Given the description of an element on the screen output the (x, y) to click on. 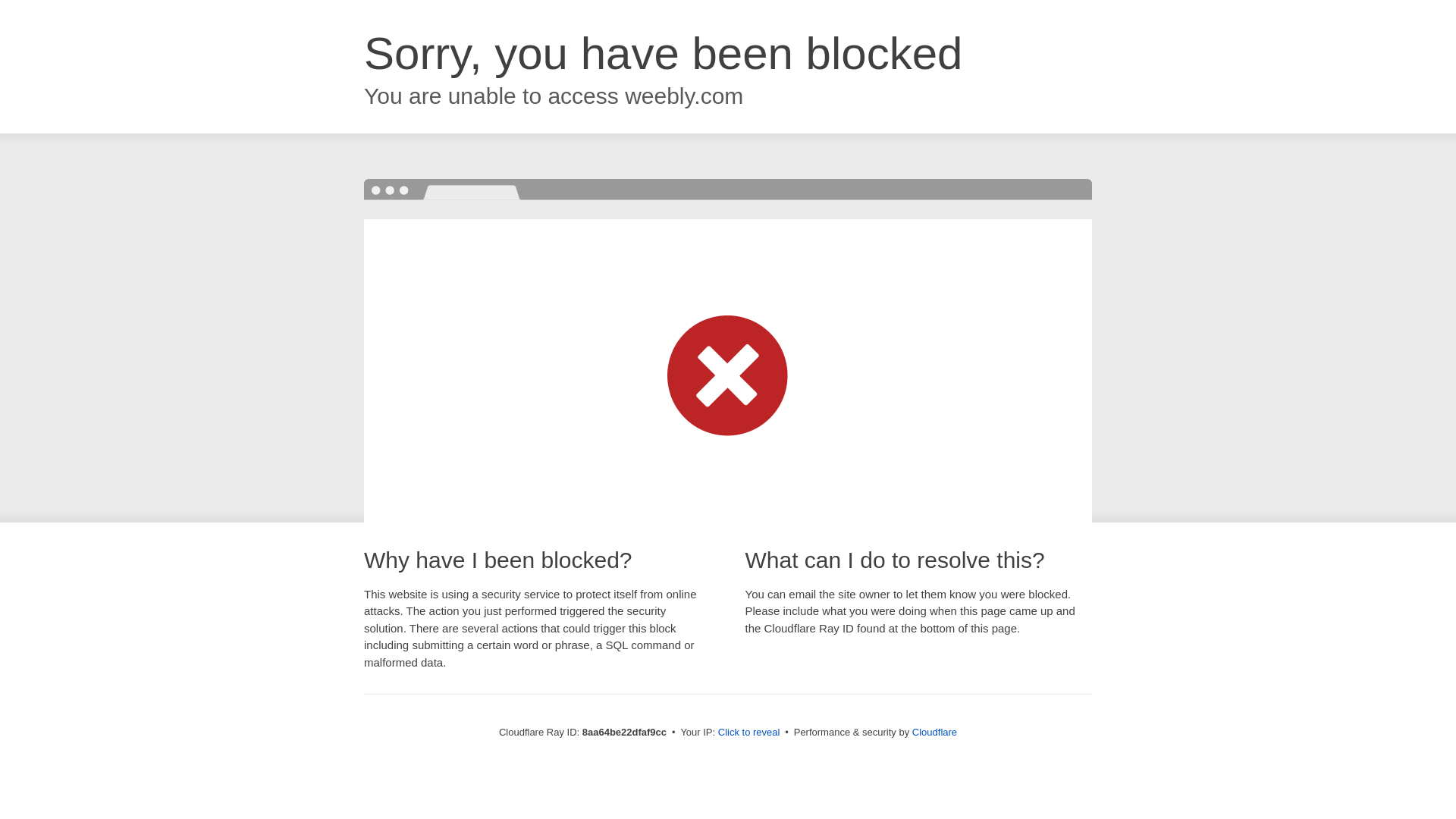
Click to reveal (748, 732)
Cloudflare (934, 731)
